Given the description of an element on the screen output the (x, y) to click on. 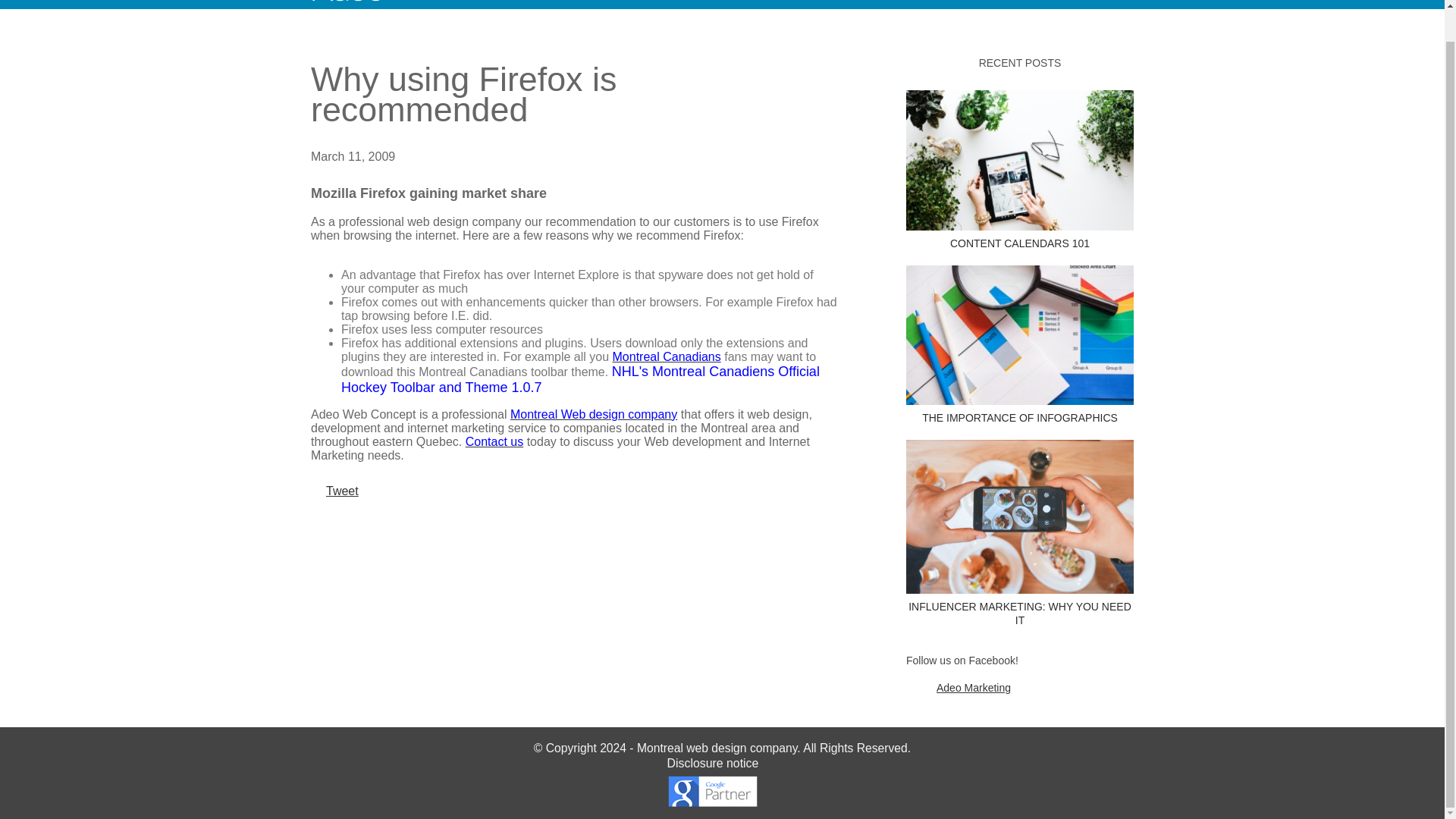
REALISATIONS (814, 5)
EXPERTISE (618, 5)
AGENCY (711, 5)
